Given the description of an element on the screen output the (x, y) to click on. 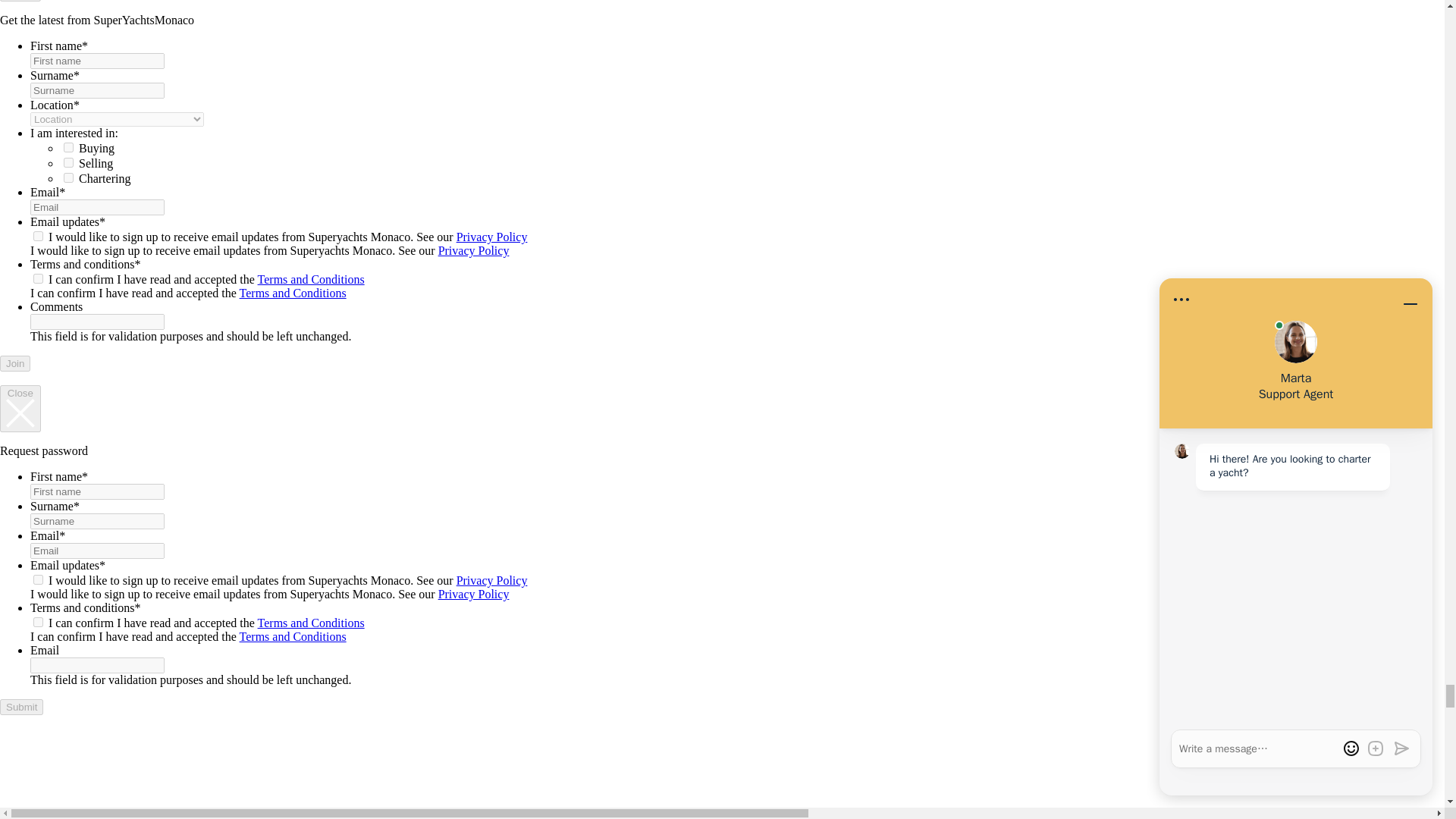
Buying (69, 147)
Selling (69, 162)
1 (38, 278)
1 (38, 235)
Chartering (69, 177)
